Given the description of an element on the screen output the (x, y) to click on. 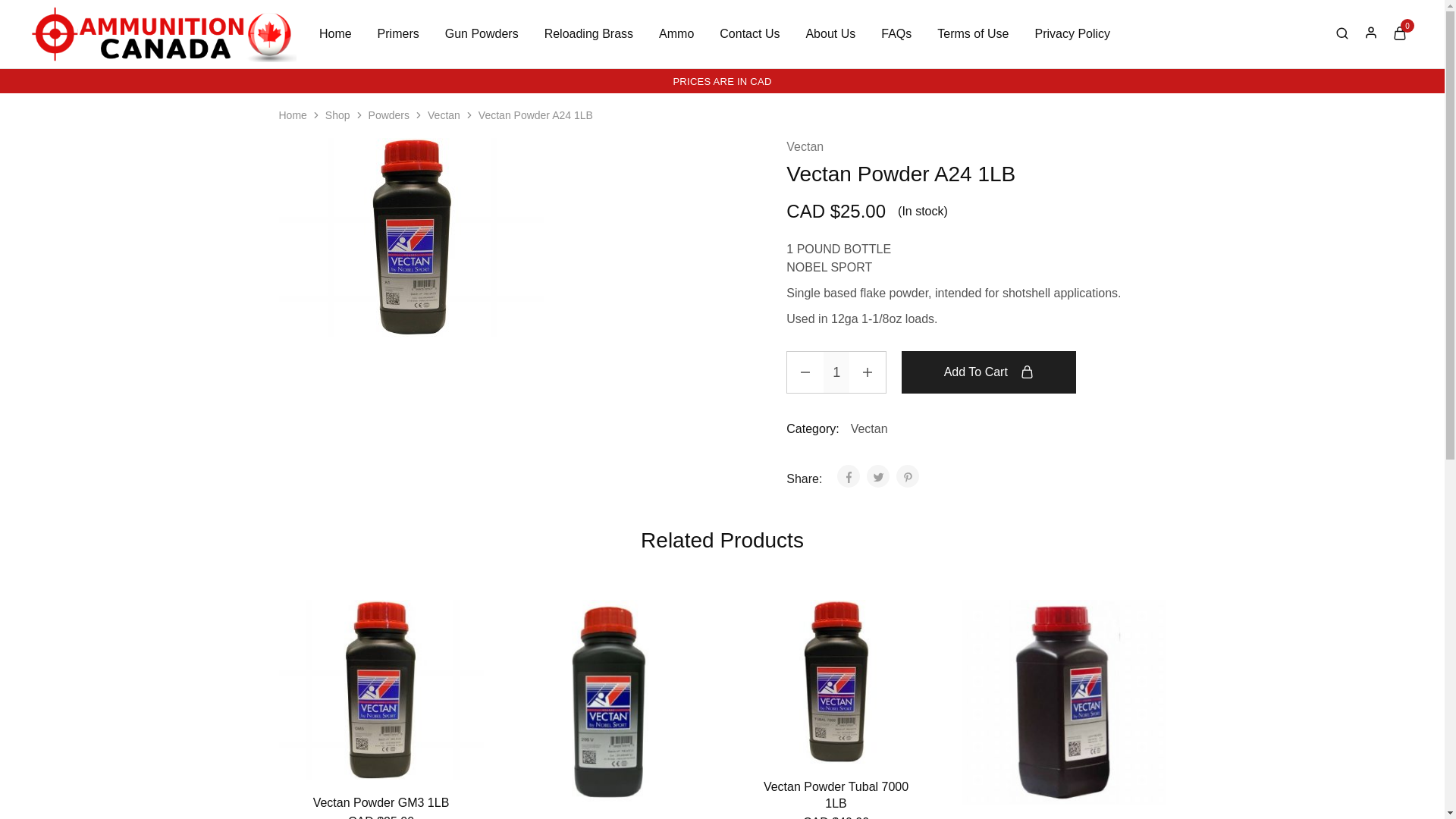
Terms of Use (972, 33)
Ammo (675, 33)
Contact Us (749, 33)
About Us (830, 33)
FAQs (896, 33)
Reloading Brass (587, 33)
Home (335, 33)
Gun Powders (481, 33)
Privacy Policy (1072, 33)
Ammunition Canada Shop (62, 51)
Primers (398, 33)
vectan-powder-a1 (411, 237)
